Given the description of an element on the screen output the (x, y) to click on. 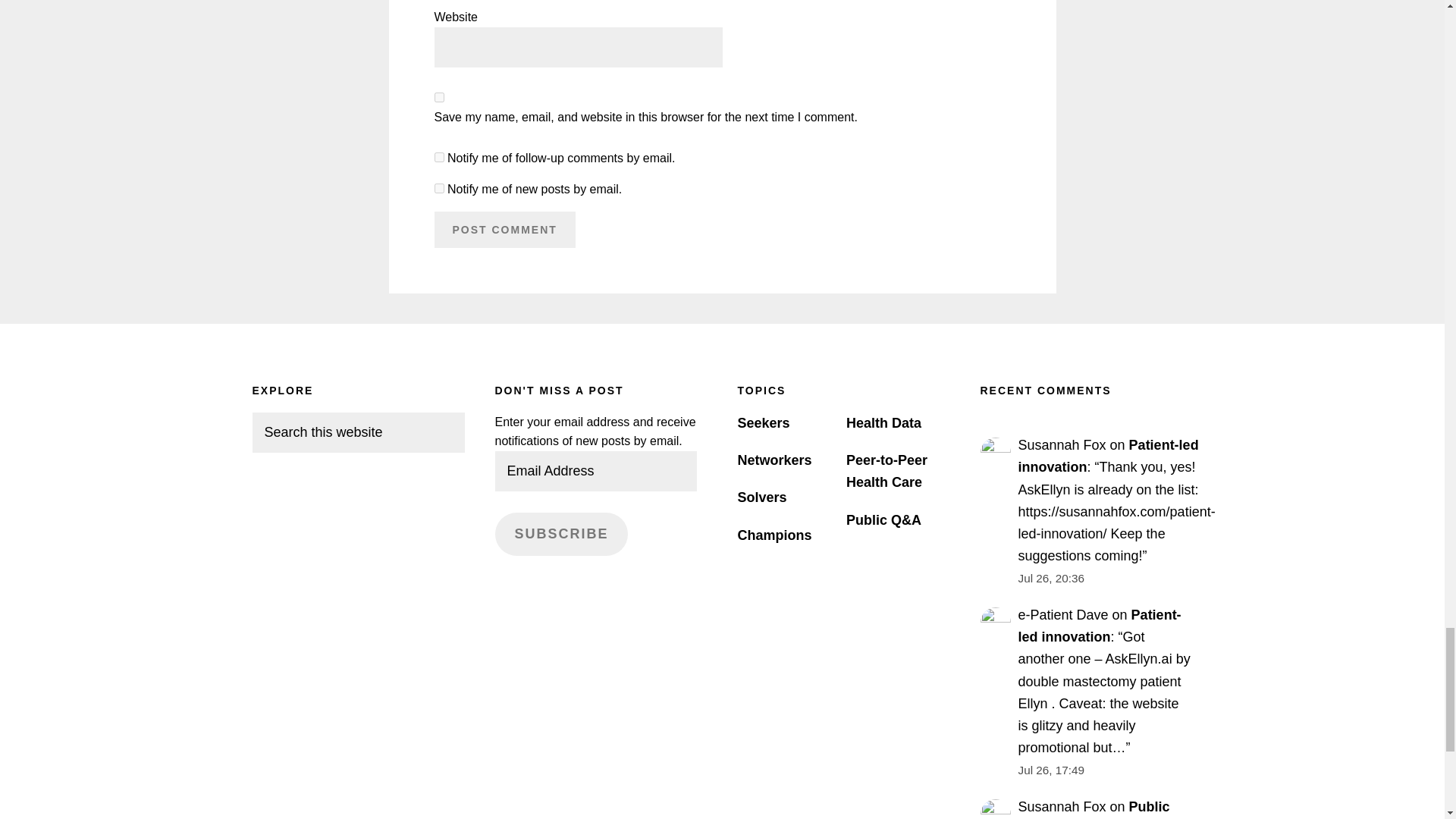
subscribe (438, 188)
yes (438, 97)
subscribe (438, 157)
Post Comment (504, 229)
